Given the description of an element on the screen output the (x, y) to click on. 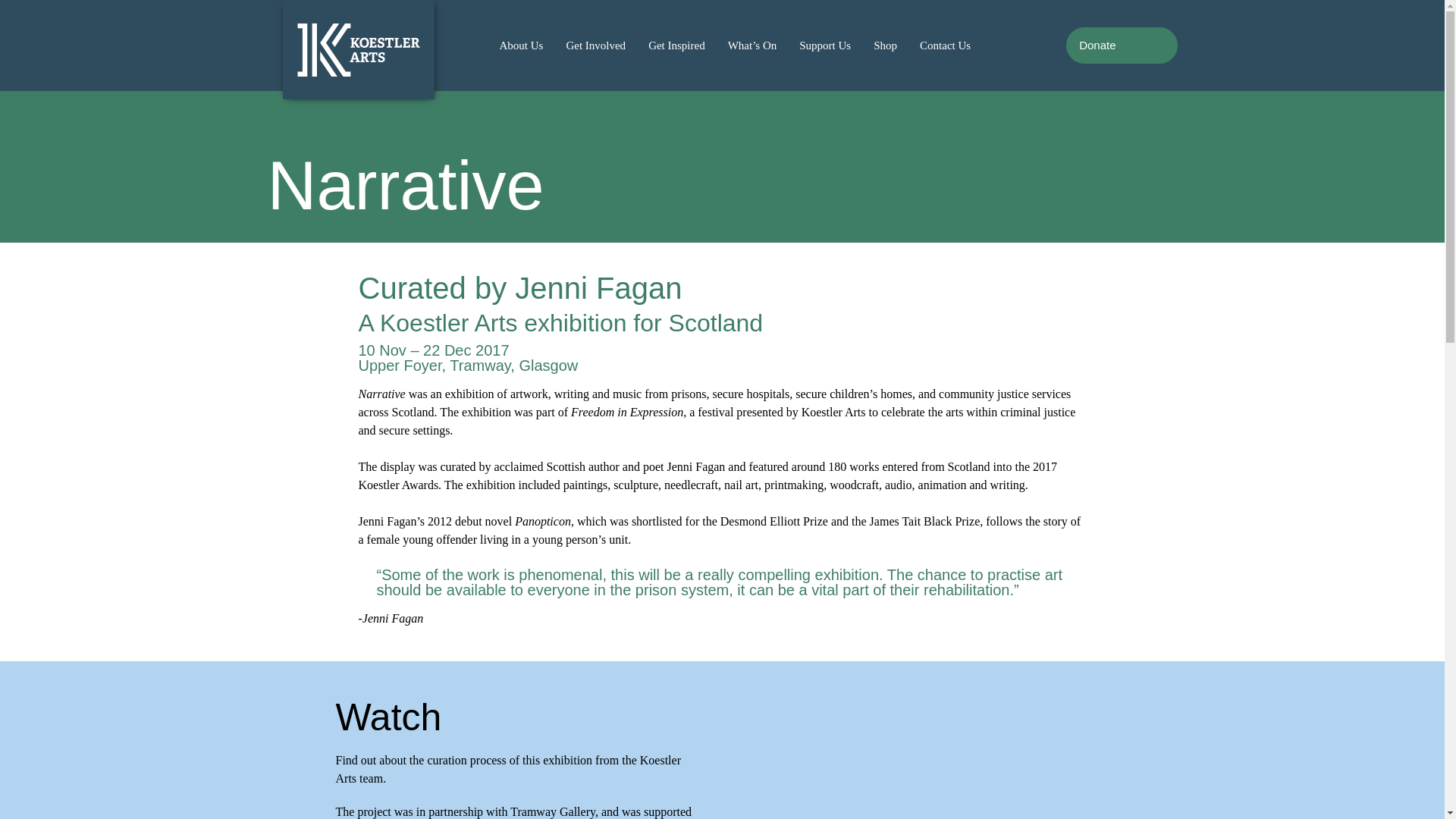
Shop (884, 44)
Get Involved (595, 44)
Get Inspired (676, 44)
Contact Us (944, 44)
About Us (520, 44)
Support Us (824, 44)
